Given the description of an element on the screen output the (x, y) to click on. 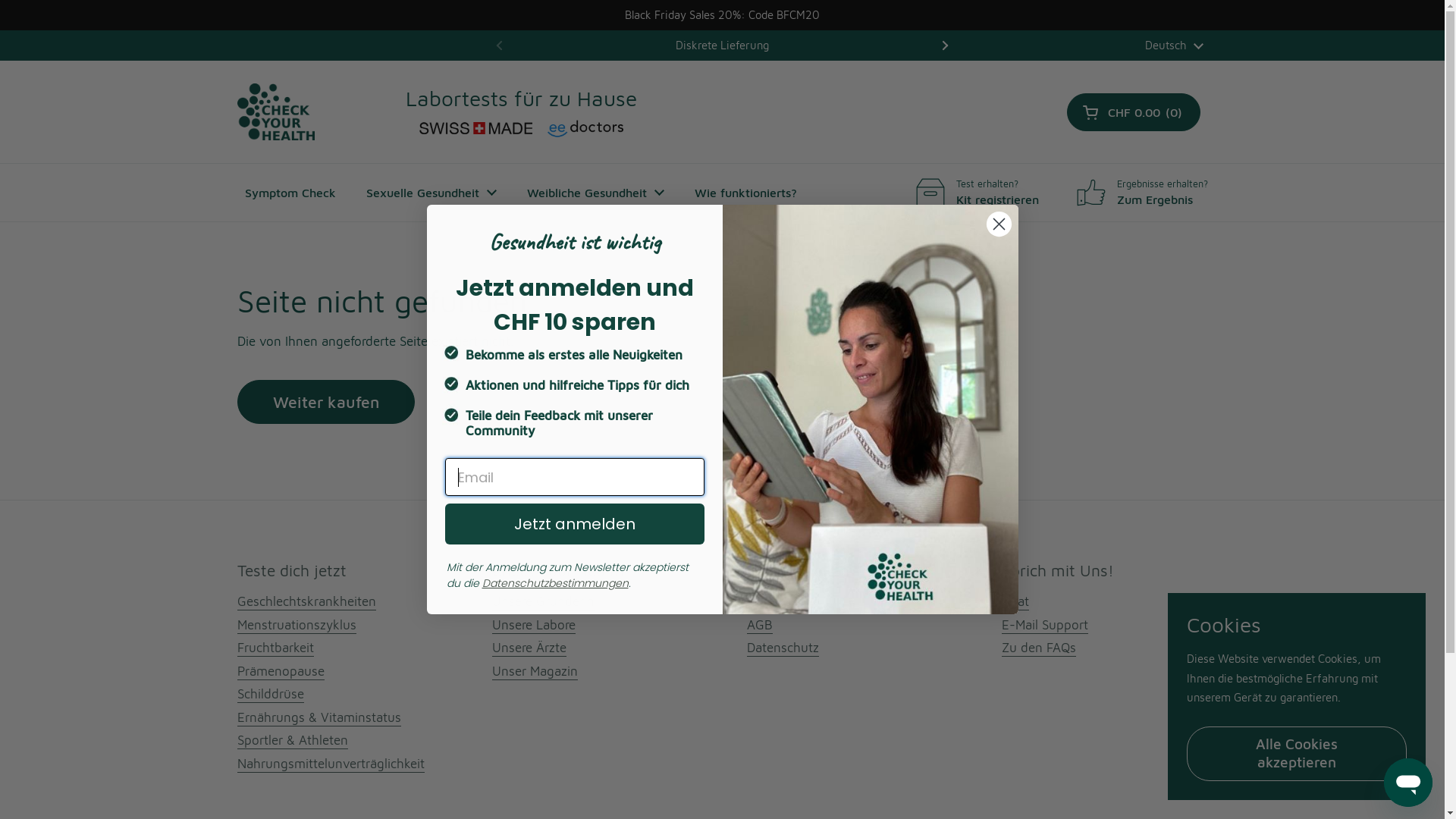
Datenschutz Element type: text (782, 648)
Sportler & Athleten Element type: text (291, 740)
Menstruationszyklus Element type: text (295, 625)
Unsere Labore Element type: text (532, 625)
Jetzt anmelden Element type: text (573, 523)
Close dialog 1 Element type: text (998, 223)
Alle Cookies akzeptieren Element type: text (1296, 753)
Ergebnisse erhalten?
Zum Ergebnis Element type: text (1142, 192)
Geschlechtskrankheiten Element type: text (305, 601)
Submit Element type: text (30, 19)
Zu den FAQs Element type: text (1038, 648)
Weibliche Gesundheit Element type: text (594, 192)
AGB Element type: text (758, 625)
Deutsch Element type: text (1174, 45)
Test erhalten?
Kit registrieren Element type: text (977, 192)
E-Mail Support Element type: text (1044, 625)
Check Your Health Element type: hover (274, 111)
Sexuelle Gesundheit Element type: text (430, 192)
Impressum Element type: text (777, 601)
Weiter kaufen Element type: text (325, 401)
Chat Element type: text (1014, 601)
Datenschutzbestimmungen Element type: text (555, 582)
Wie funktionierts? Element type: text (745, 192)
Fruchtbarkeit Element type: text (274, 648)
Symptom Check Element type: text (289, 192)
Unser Magazin Element type: text (534, 671)
Zum Inhalt springen Element type: text (0, 0)
